Given the description of an element on the screen output the (x, y) to click on. 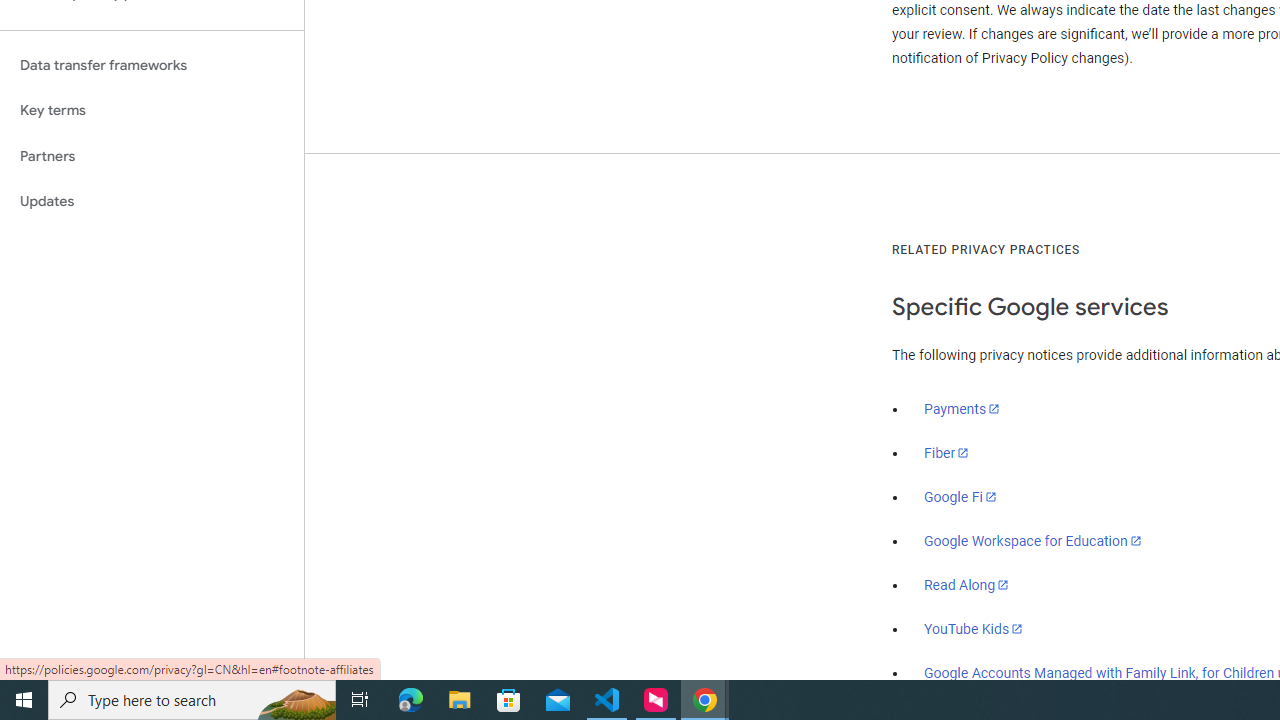
Partners (152, 156)
Google Fi (960, 497)
Data transfer frameworks (152, 65)
Read Along (966, 585)
Payments (962, 409)
YouTube Kids (974, 628)
Google Workspace for Education (1032, 541)
Key terms (152, 110)
Fiber (947, 453)
